Given the description of an element on the screen output the (x, y) to click on. 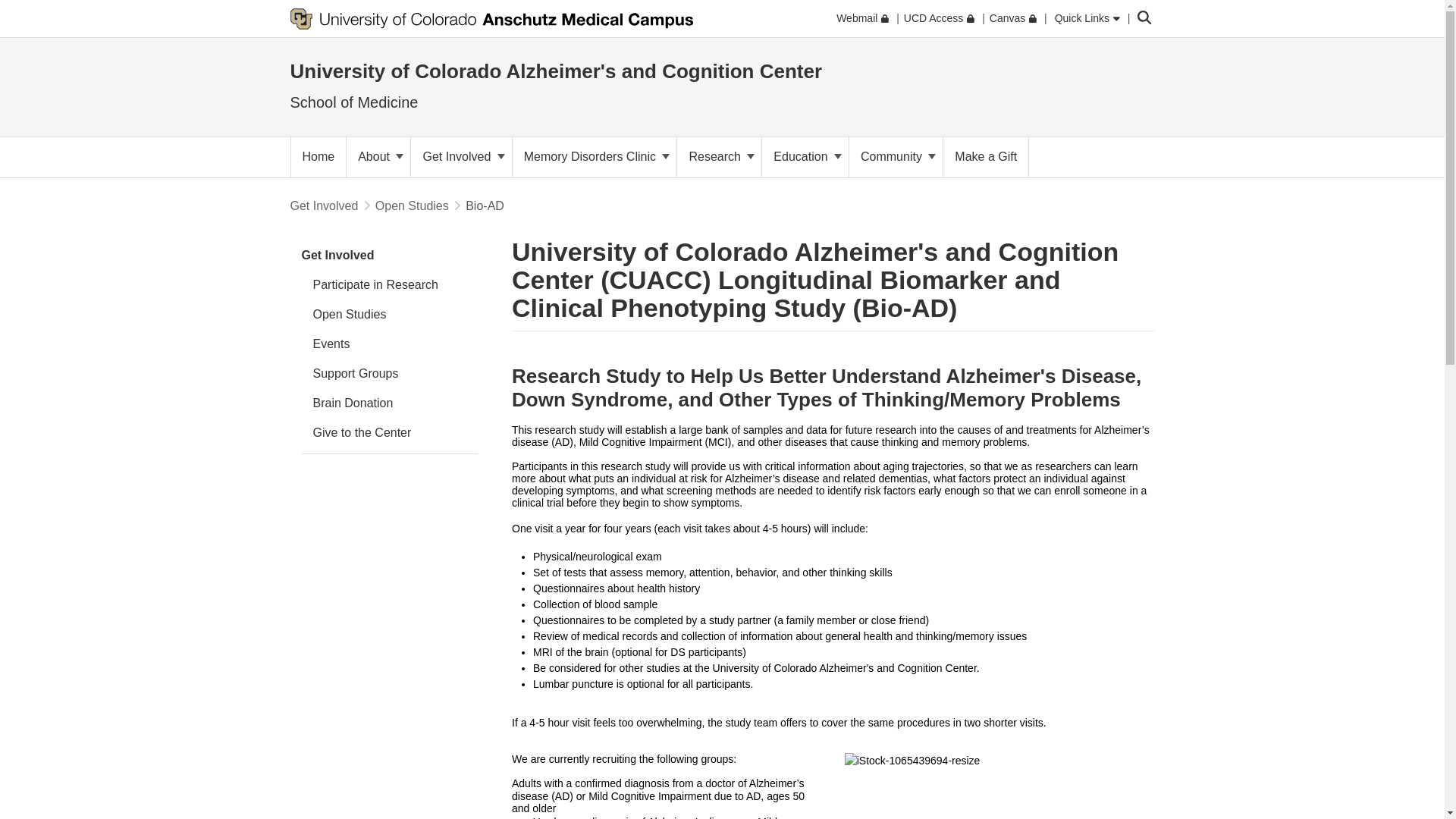
School of Medicine (353, 102)
UCD Access (939, 18)
About (378, 156)
Canvas (1013, 18)
Home (318, 156)
University of Colorado Alzheimer's and Cognition Center (555, 70)
Quick Links (1086, 18)
iStock-1065439694-resize (999, 785)
Webmail (861, 18)
